Given the description of an element on the screen output the (x, y) to click on. 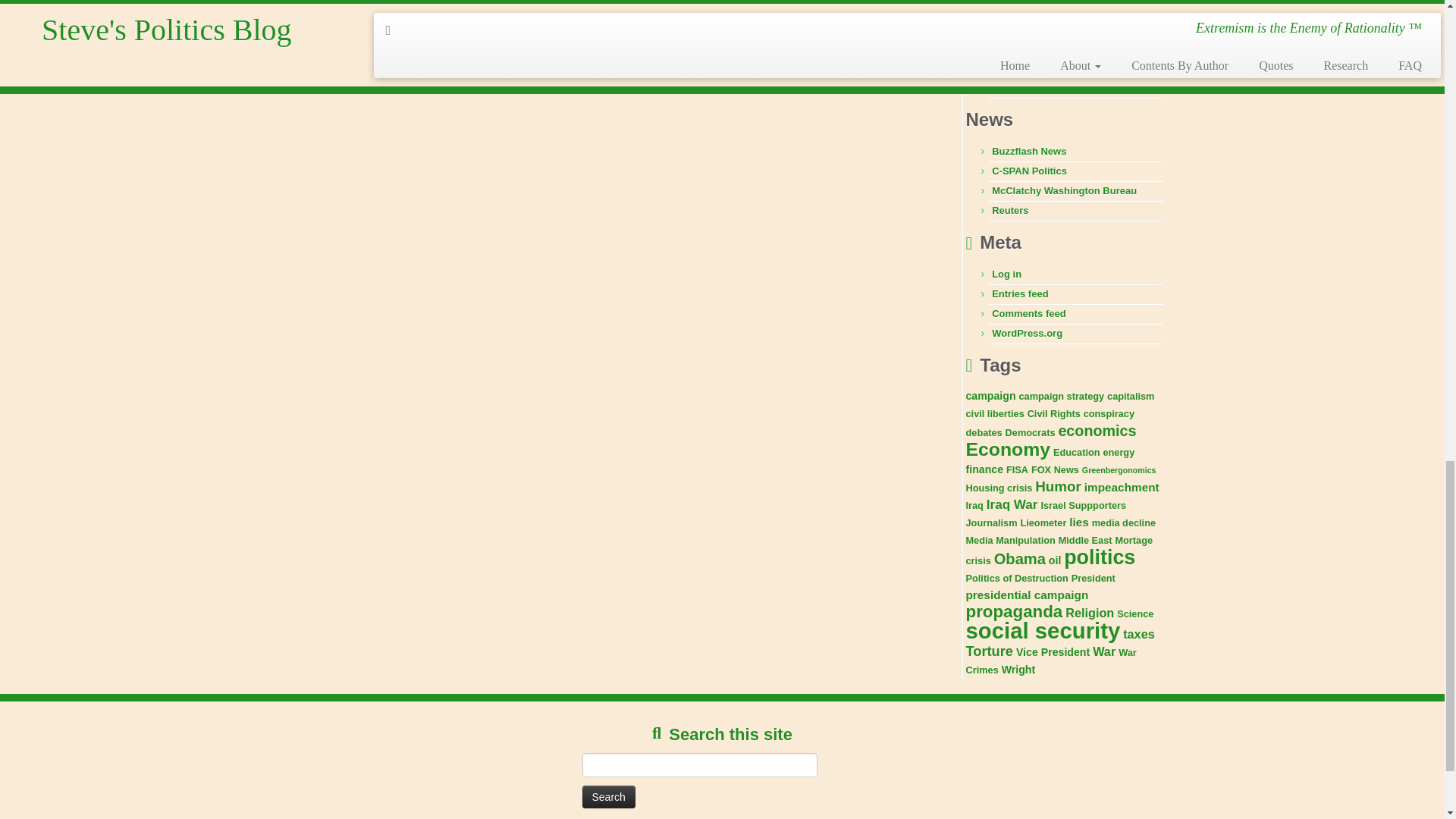
Search (608, 796)
